Given the description of an element on the screen output the (x, y) to click on. 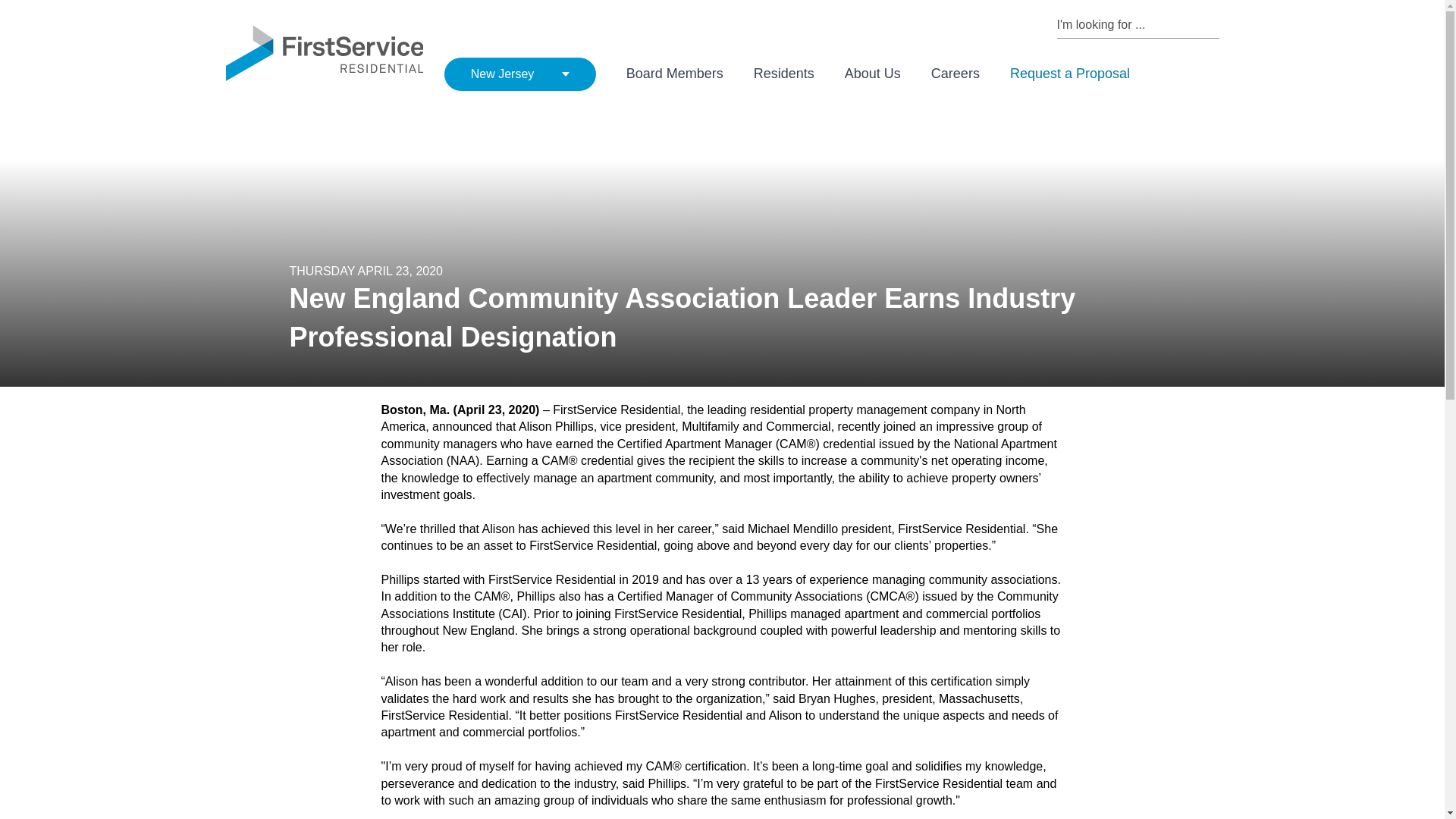
Board Members (674, 73)
New Jersey (519, 73)
Submit search (1212, 24)
